Given the description of an element on the screen output the (x, y) to click on. 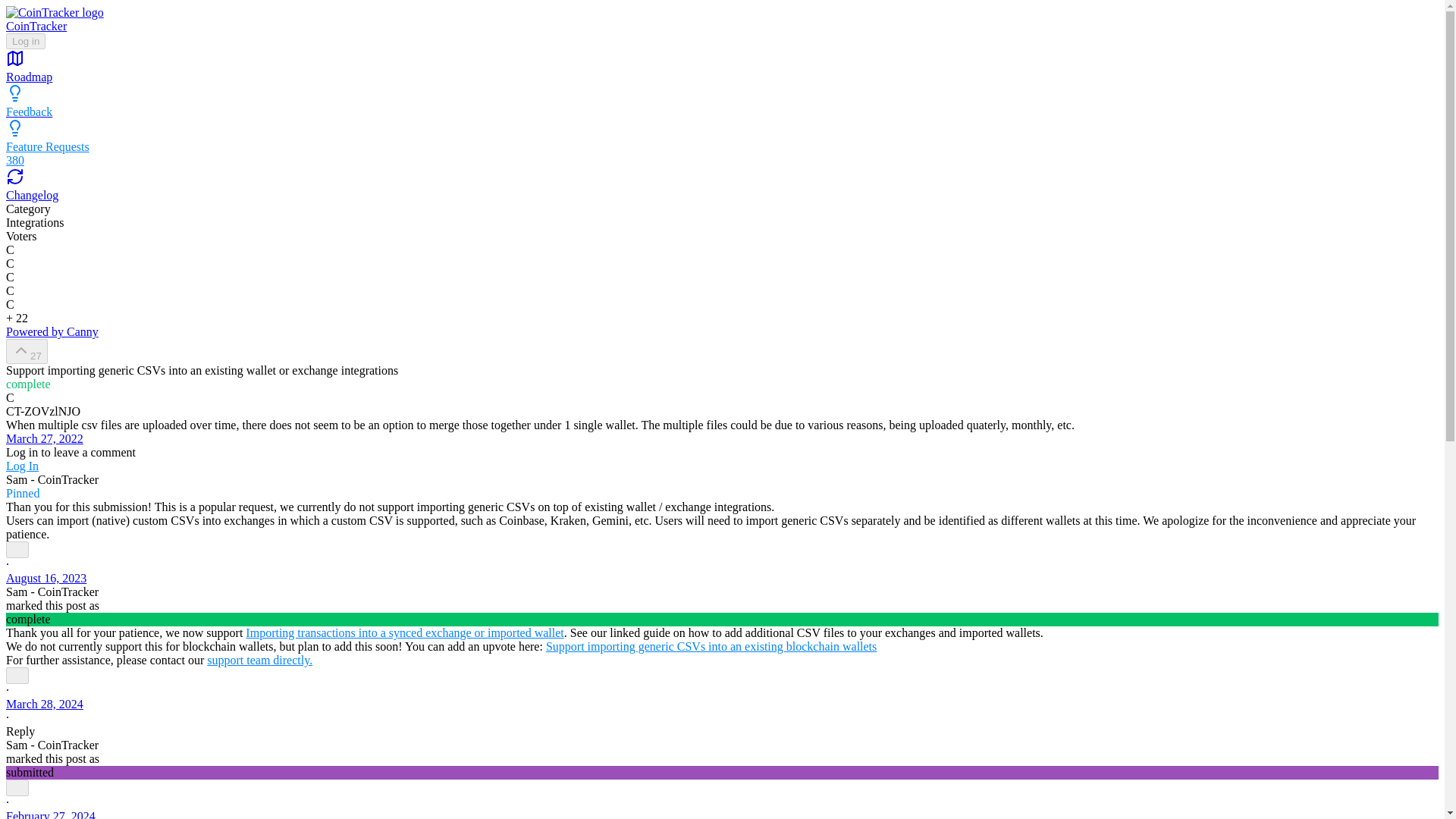
Log in (25, 41)
Log in (25, 40)
27 (26, 351)
support team directly. (259, 659)
Powered by Canny (52, 331)
Log In (22, 465)
